Given the description of an element on the screen output the (x, y) to click on. 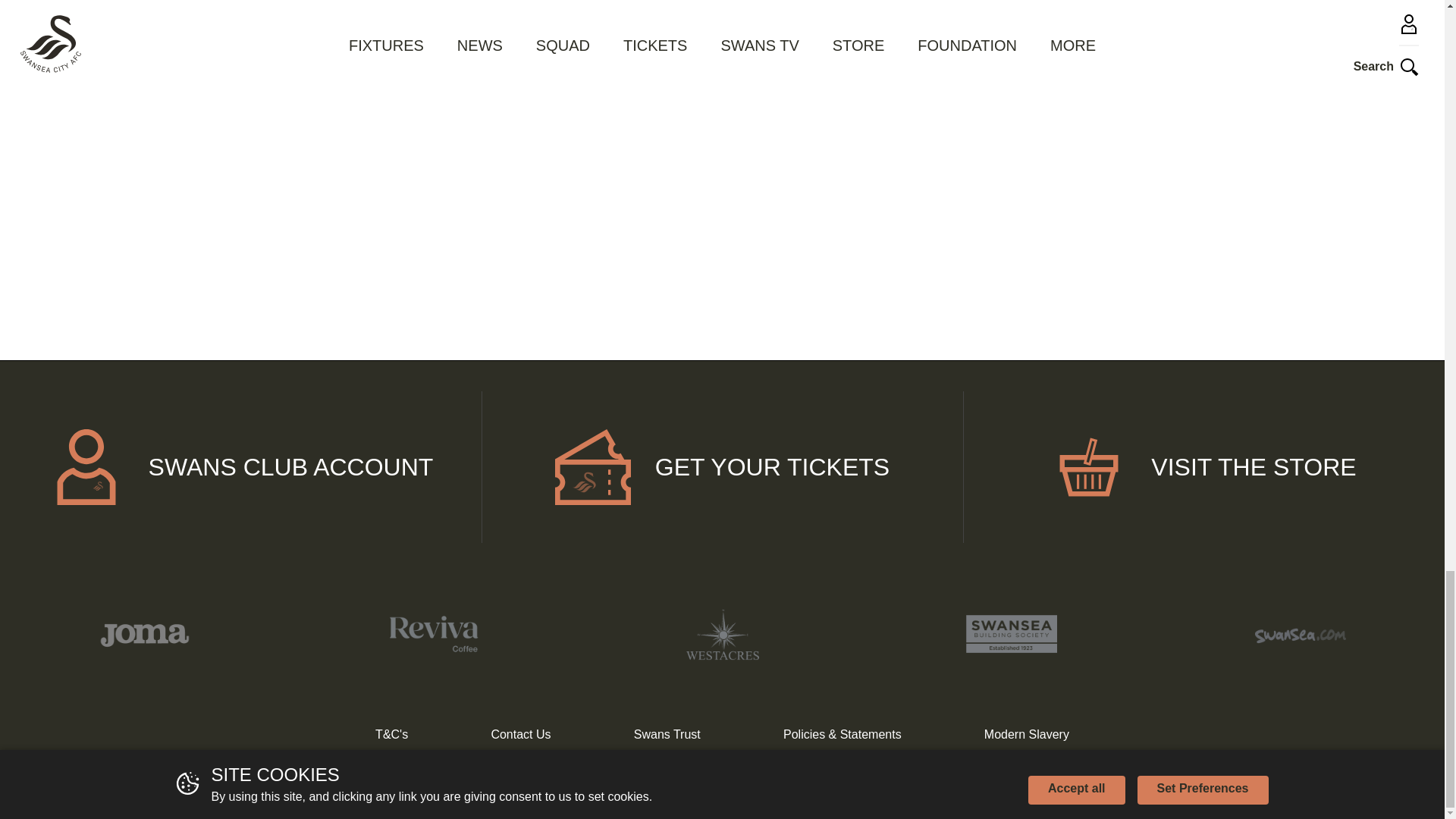
Swansea sponsor (144, 633)
3rd party ad content (721, 36)
Swansea sponsor (432, 633)
3rd party ad content (721, 190)
3rd party ad content (357, 190)
3rd party ad content (1085, 36)
3rd party ad content (357, 36)
Swansea sponsor (1299, 633)
Swansea sponsor (722, 634)
Sign up or log into Swans Club Account (240, 466)
